Given the description of an element on the screen output the (x, y) to click on. 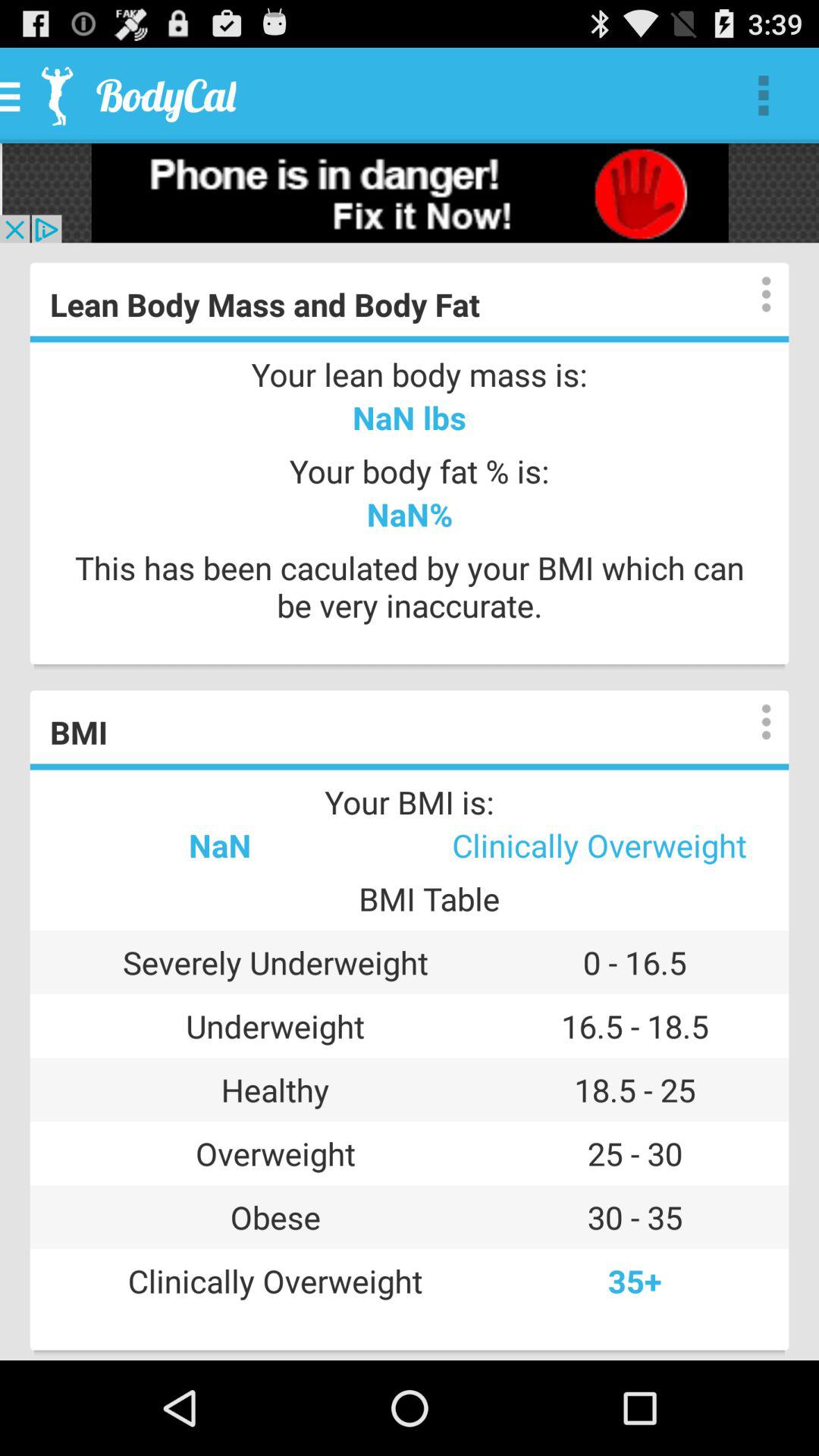
display options and details (750, 294)
